Given the description of an element on the screen output the (x, y) to click on. 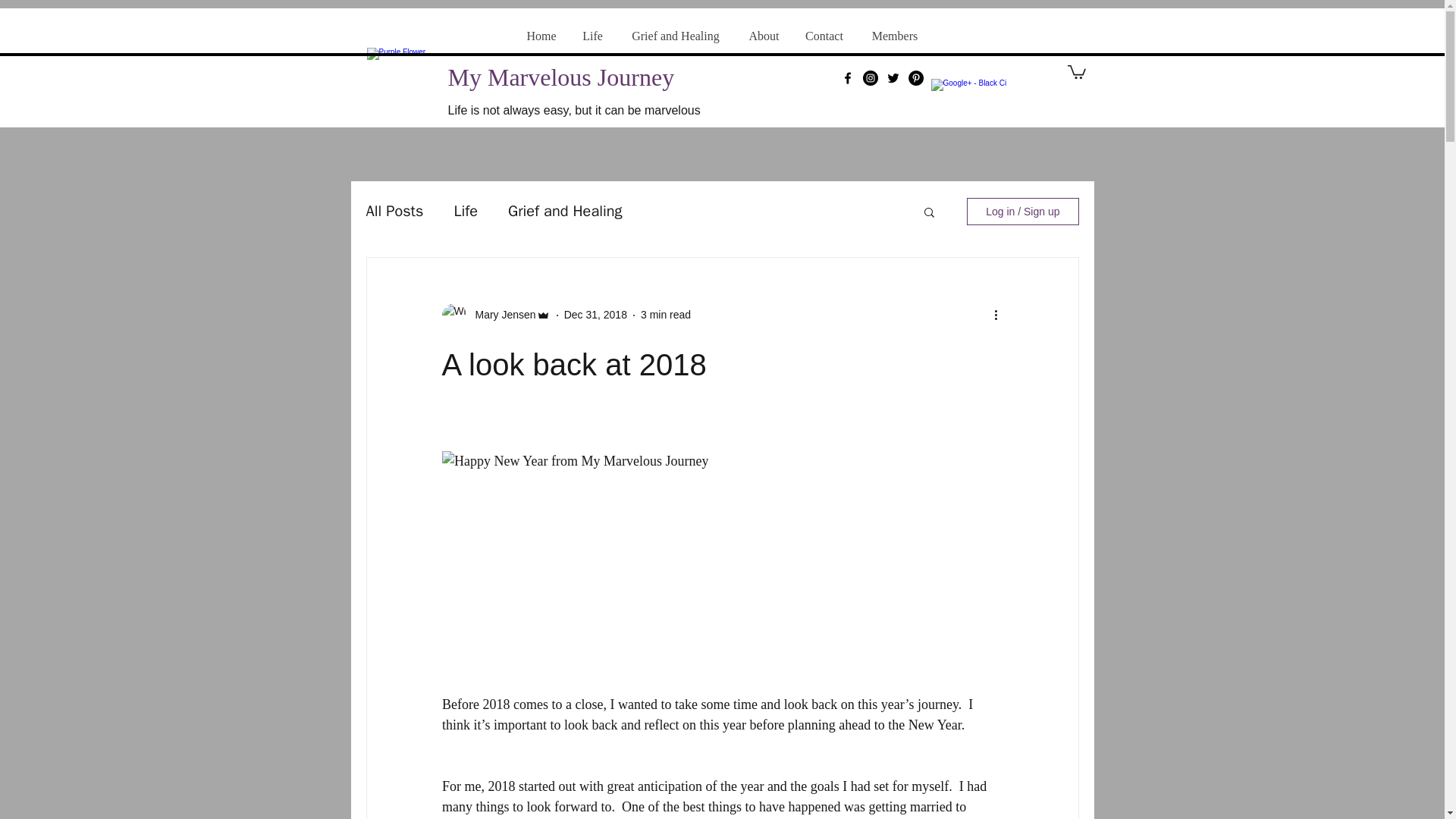
Contact (824, 35)
Grief and Healing (674, 35)
Life (592, 35)
Mary Jensen (500, 314)
Grief and Healing (565, 210)
About (762, 35)
Home (541, 35)
All Posts (394, 210)
Life (464, 210)
Dec 31, 2018 (595, 314)
